Given the description of an element on the screen output the (x, y) to click on. 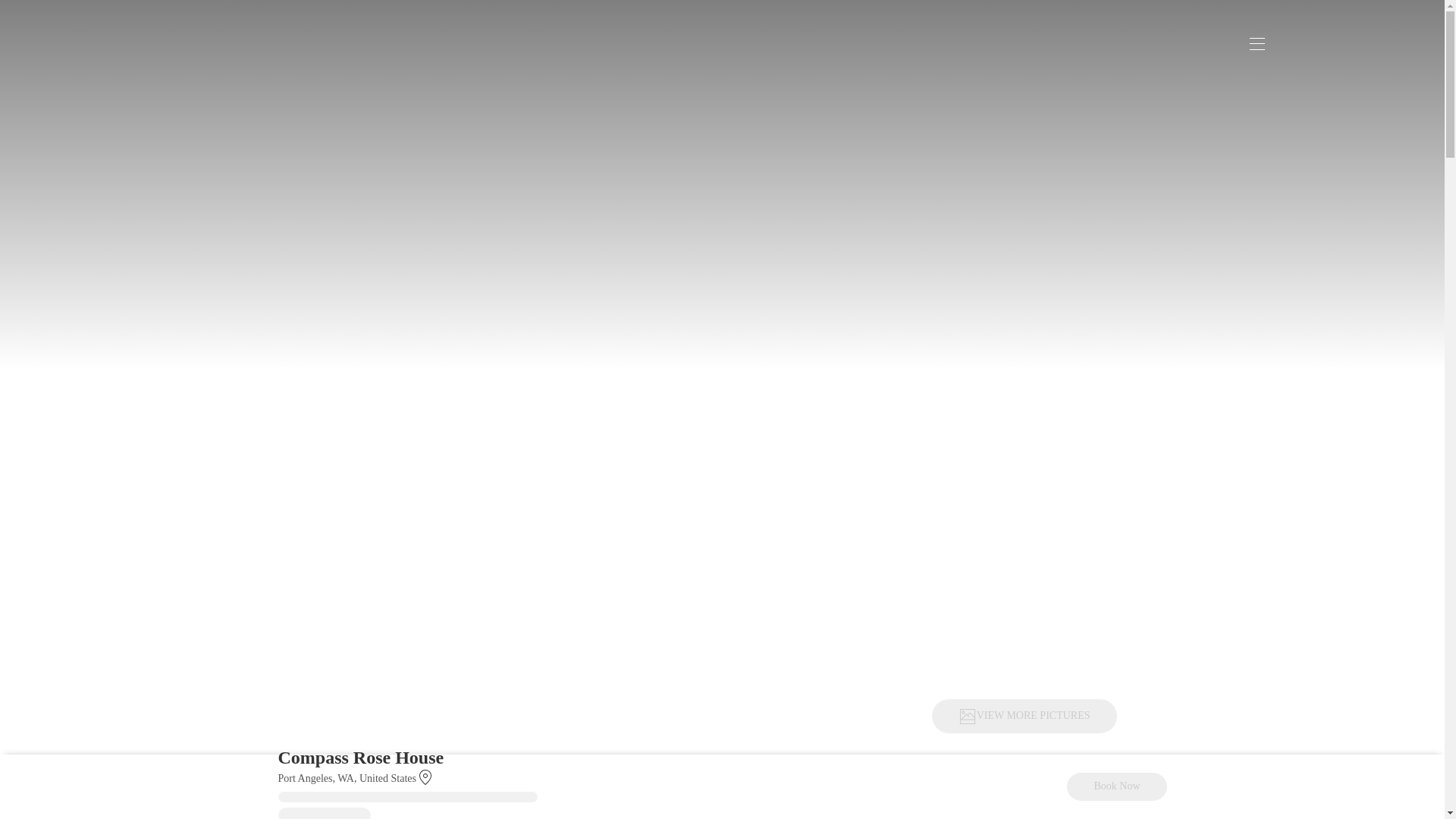
VIEW MORE PICTURES (1023, 716)
Book Now (1116, 786)
